Given the description of an element on the screen output the (x, y) to click on. 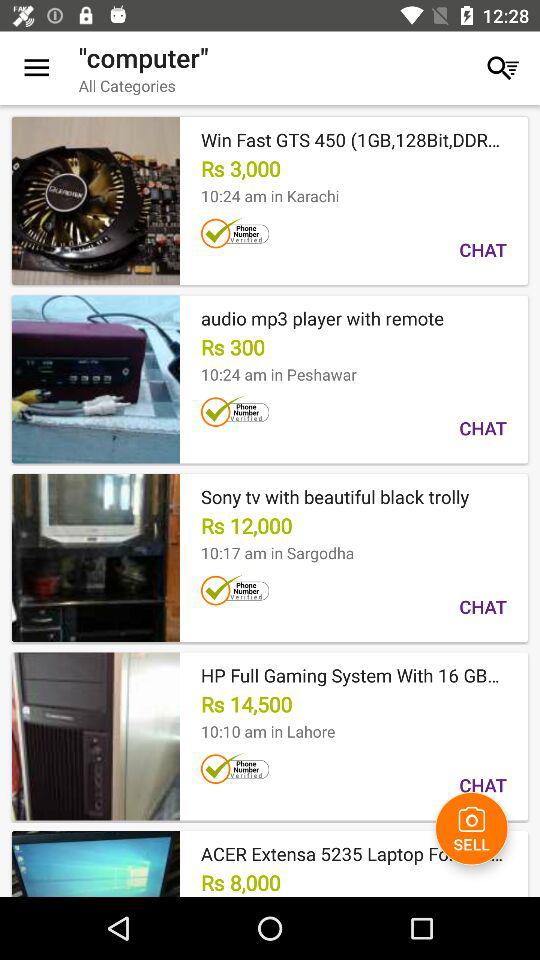
launch icon to the right of the rs 8,000 item (471, 828)
